Given the description of an element on the screen output the (x, y) to click on. 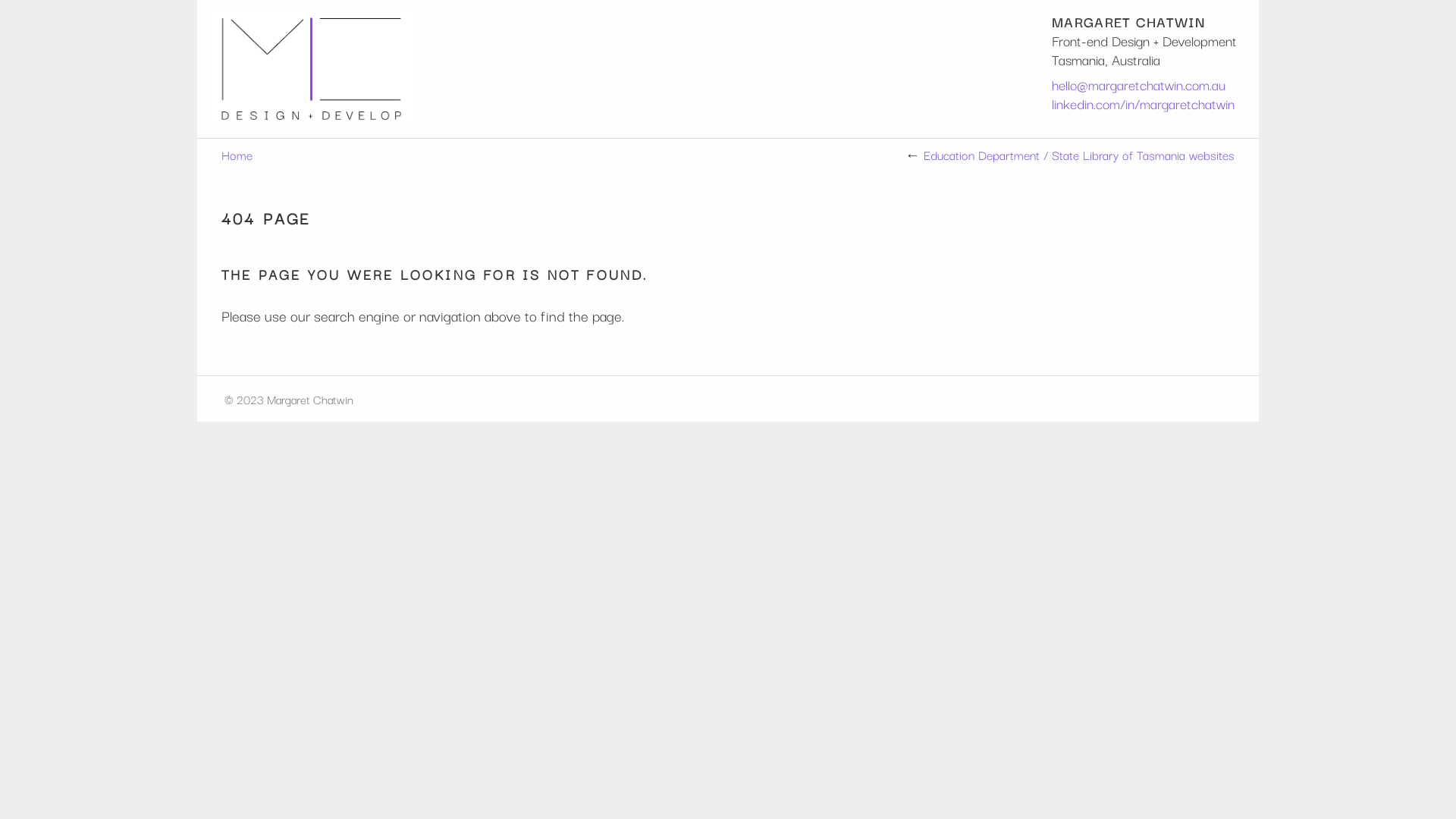
hello@margaretchatwin.com.au Element type: text (1138, 83)
linkedin.com/in/margaretchatwin Element type: text (1142, 102)
Home Element type: text (236, 154)
MC - Design + Develop Element type: hover (468, 68)
